Given the description of an element on the screen output the (x, y) to click on. 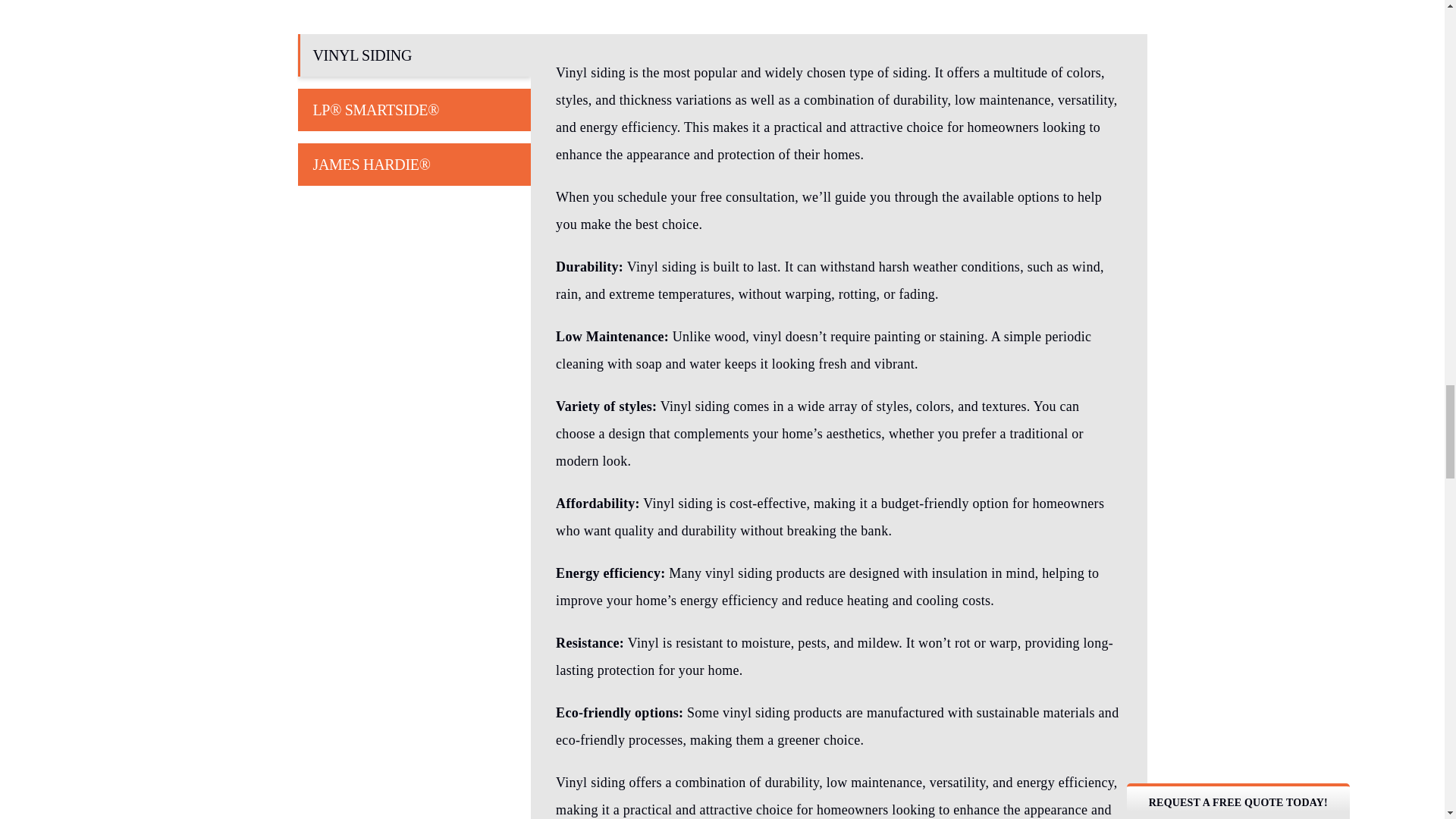
VINYL SIDING (414, 55)
